Given the description of an element on the screen output the (x, y) to click on. 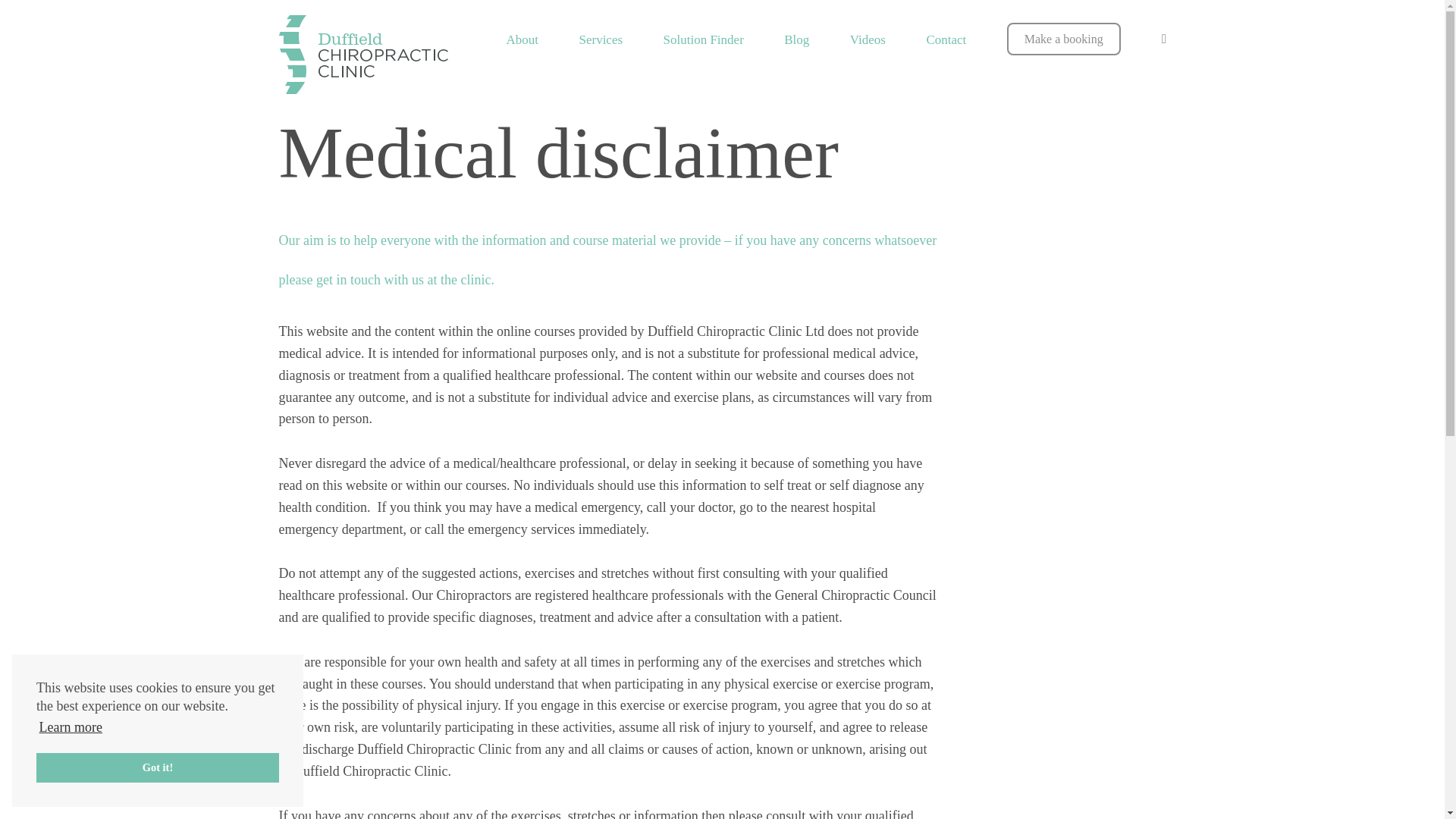
Got it! (157, 767)
Contact (946, 39)
Make a booking (1064, 38)
Blog (796, 39)
About (522, 39)
Solution Finder (703, 39)
Services (600, 39)
Learn more (70, 726)
Videos (867, 39)
